Given the description of an element on the screen output the (x, y) to click on. 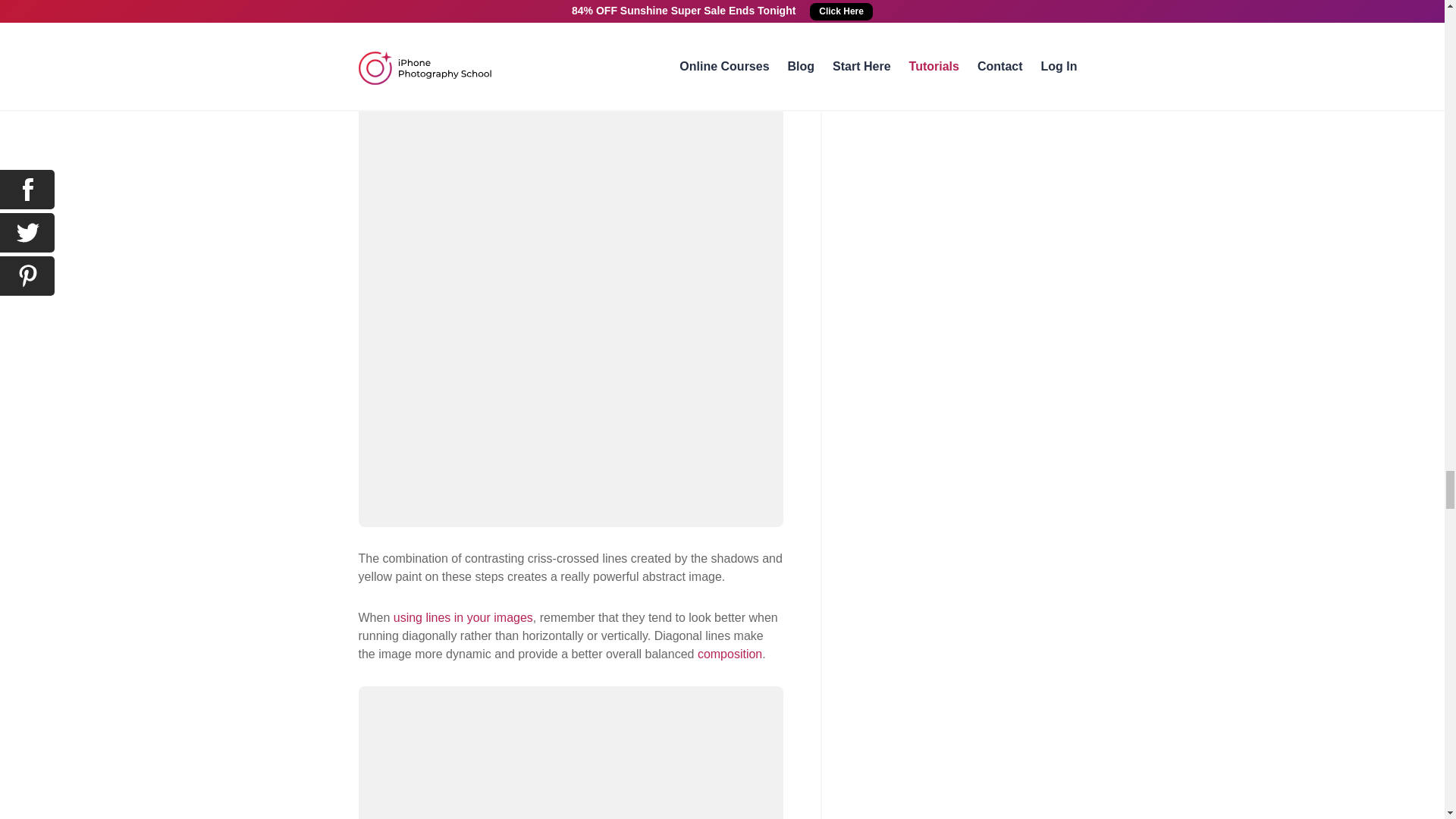
How to Use Lines in Your iPhone Photography (462, 617)
using lines in your images (462, 617)
composition (729, 653)
10 Composition Tips For Taking Better iPhone Photos (729, 653)
